Given the description of an element on the screen output the (x, y) to click on. 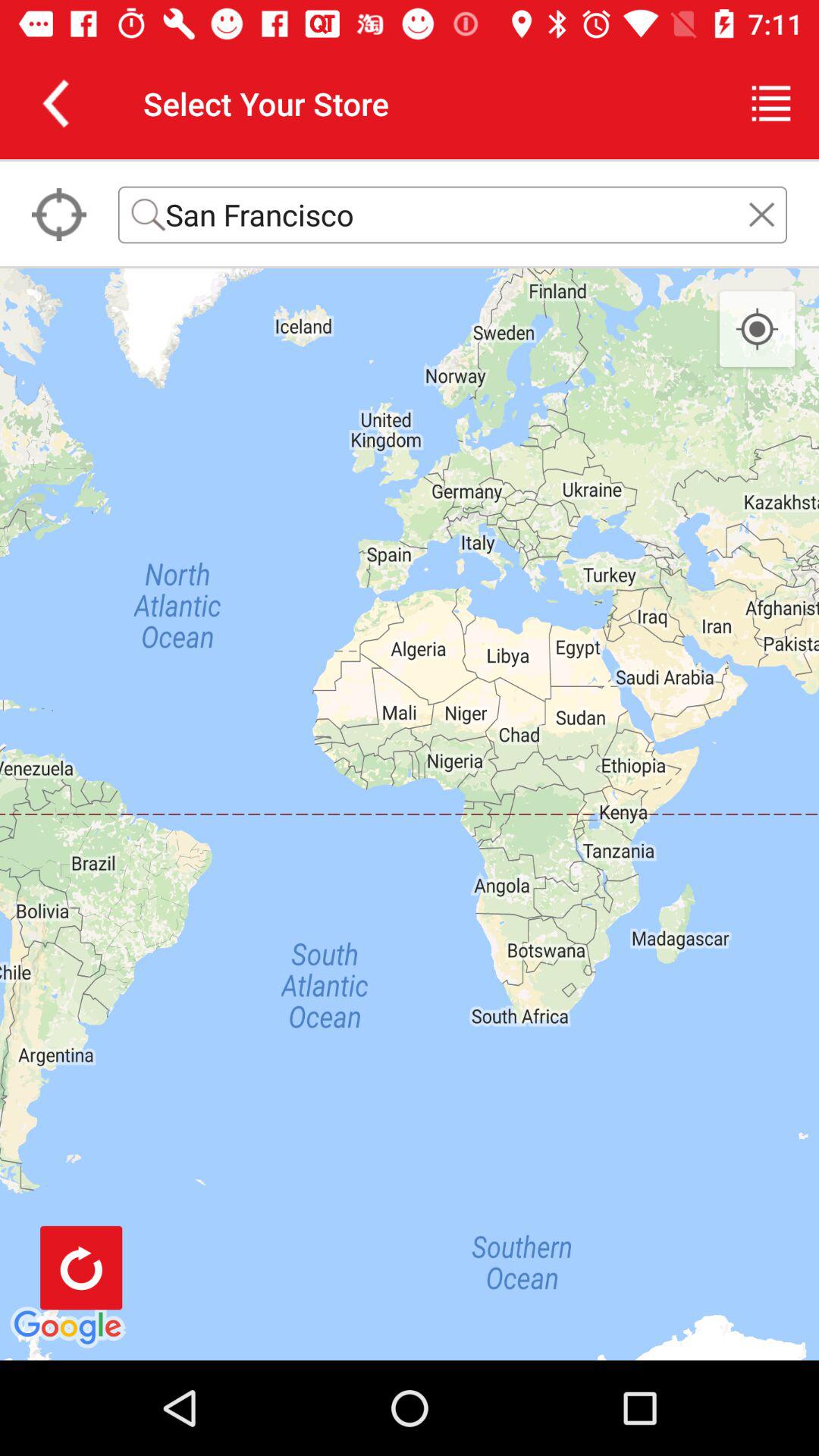
turn off icon next to the select your store (771, 103)
